Given the description of an element on the screen output the (x, y) to click on. 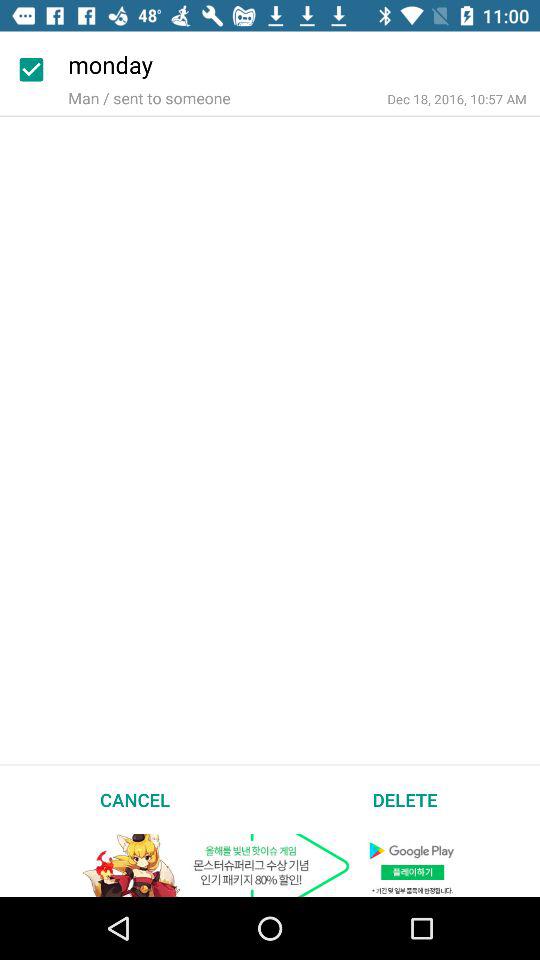
scroll to the delete icon (405, 799)
